Given the description of an element on the screen output the (x, y) to click on. 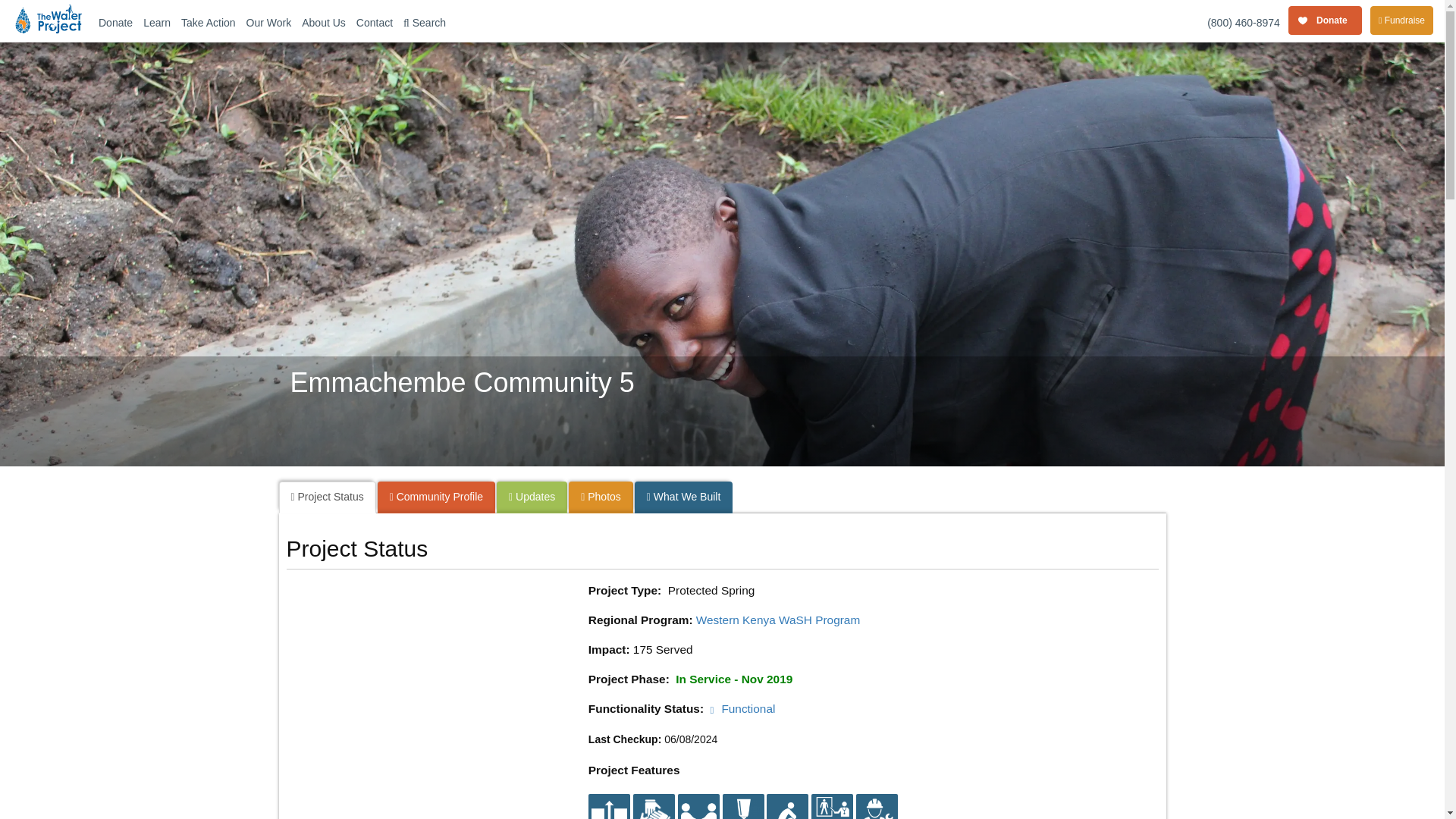
Local Leadership (654, 814)
Donate (115, 20)
Learn (157, 20)
Donate Button (1325, 21)
Western Kenya WaSH Program (777, 619)
Chlorine Dispenser (742, 814)
Protected Spring (609, 806)
Monitoring and Resolution (877, 814)
Hygiene and Sanitation Training (831, 814)
See Functionality Data (743, 707)
Protected Spring (609, 814)
Community Engagement (698, 814)
Our Work (269, 20)
Take Action (208, 20)
